Given the description of an element on the screen output the (x, y) to click on. 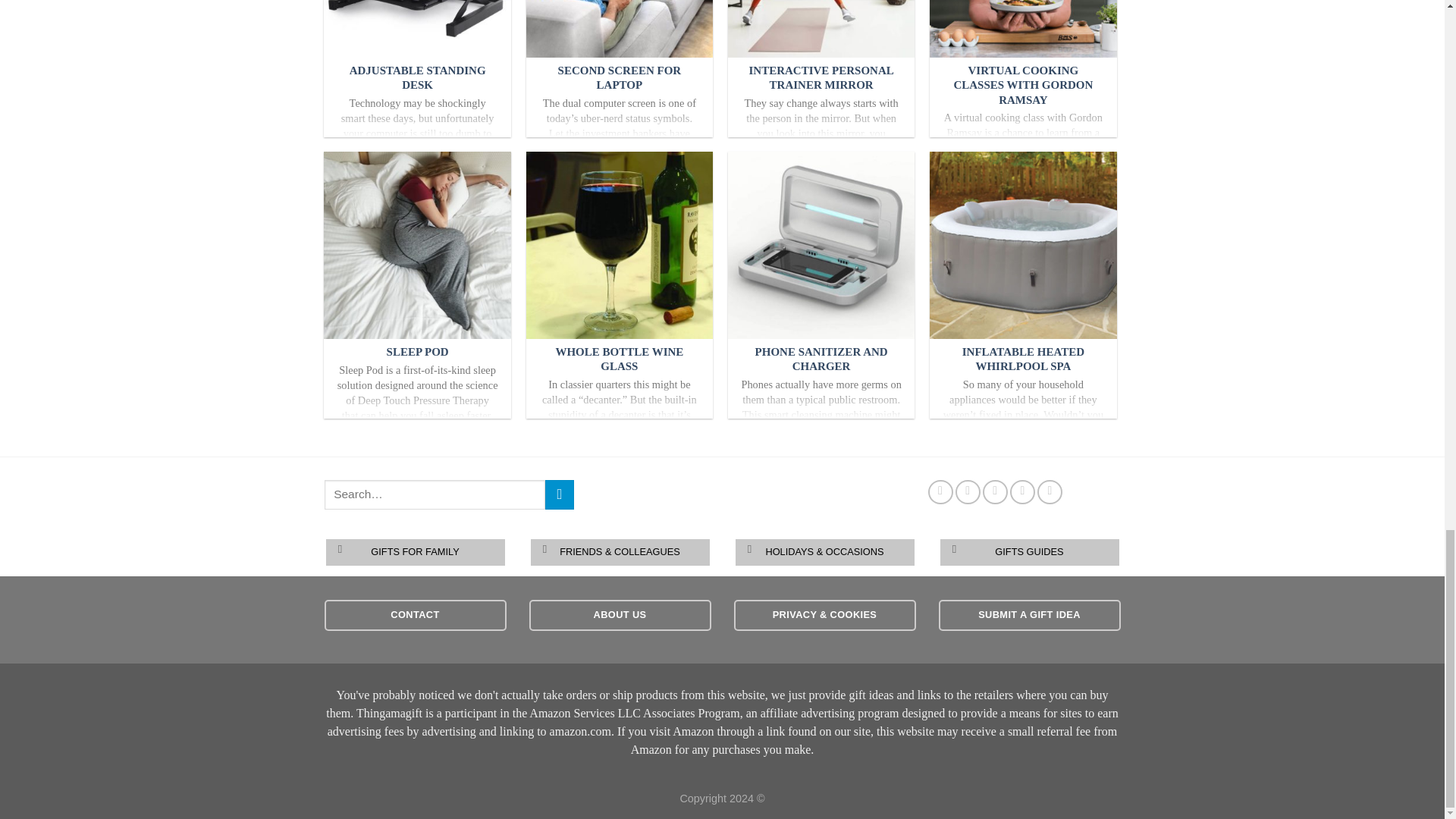
Share on Facebook (940, 491)
Email to a Friend (994, 491)
Share on Tumblr (1049, 491)
Pin on Pinterest (1022, 491)
Share on Twitter (967, 491)
